Given the description of an element on the screen output the (x, y) to click on. 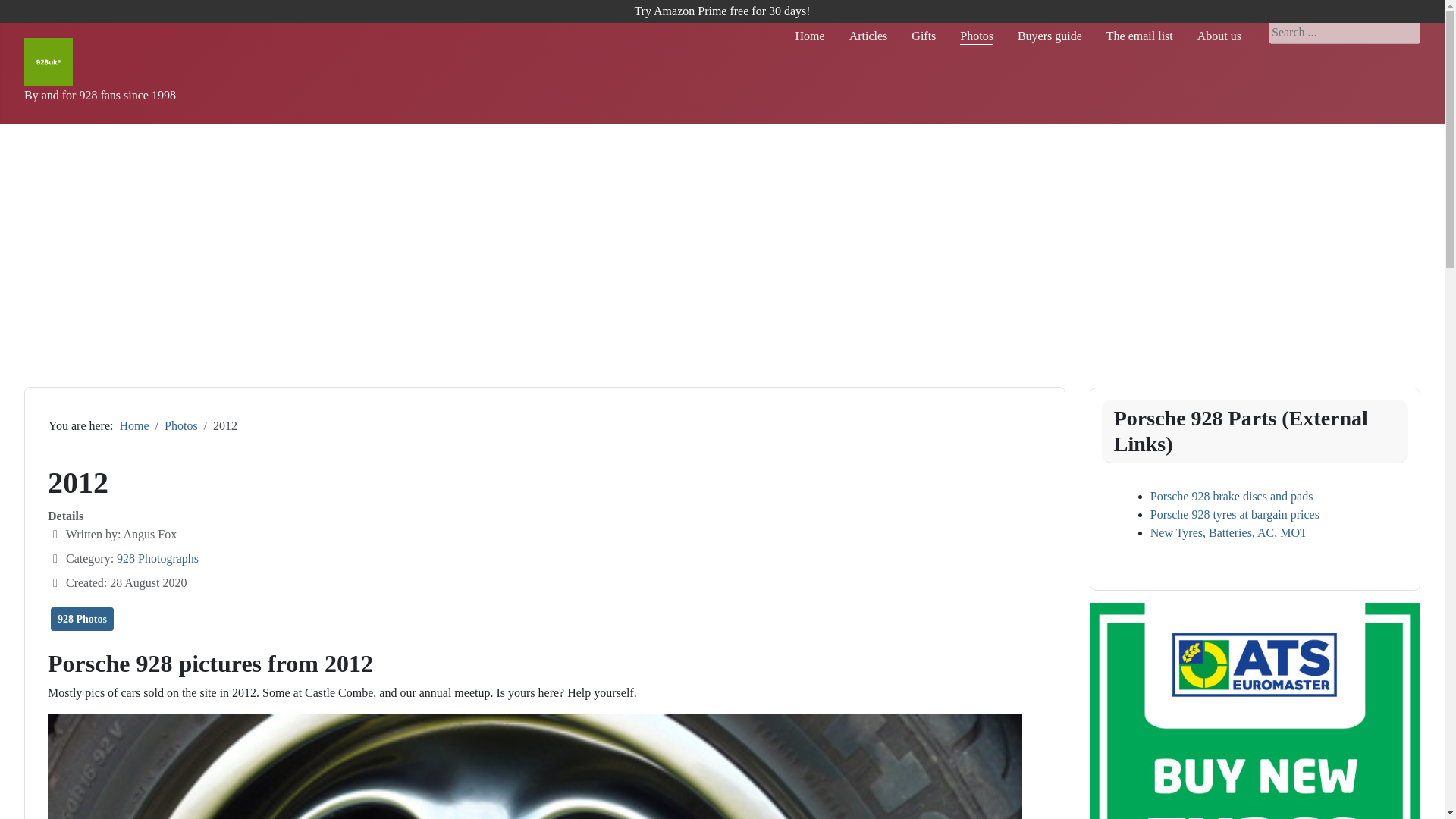
Photos (975, 36)
Try Amazon Prime free for 30 days! (721, 10)
The email list (1139, 36)
Buyers guide (1049, 36)
About us (1218, 36)
928 Photos (81, 618)
Photos (181, 425)
Articles (868, 36)
Home (809, 36)
Home (133, 425)
Amazon Prime free for 30 days! (721, 10)
928 Photographs (157, 558)
Gifts (923, 36)
